Given the description of an element on the screen output the (x, y) to click on. 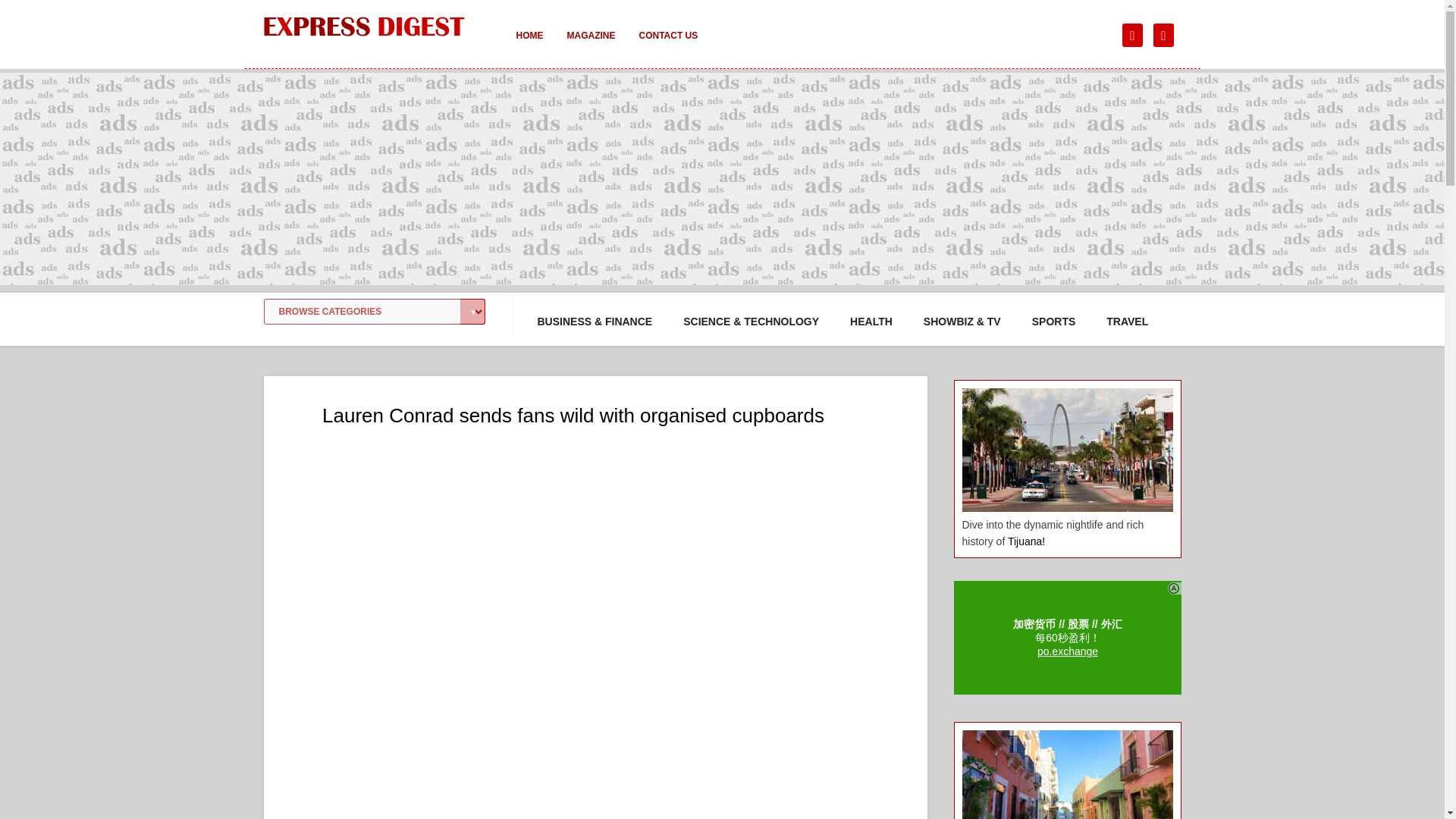
CONTACT US (667, 45)
MAGAZINE (590, 45)
SPORTS (1053, 321)
Tijuana! (1026, 541)
HEALTH (871, 321)
TRAVEL (1127, 321)
